Given the description of an element on the screen output the (x, y) to click on. 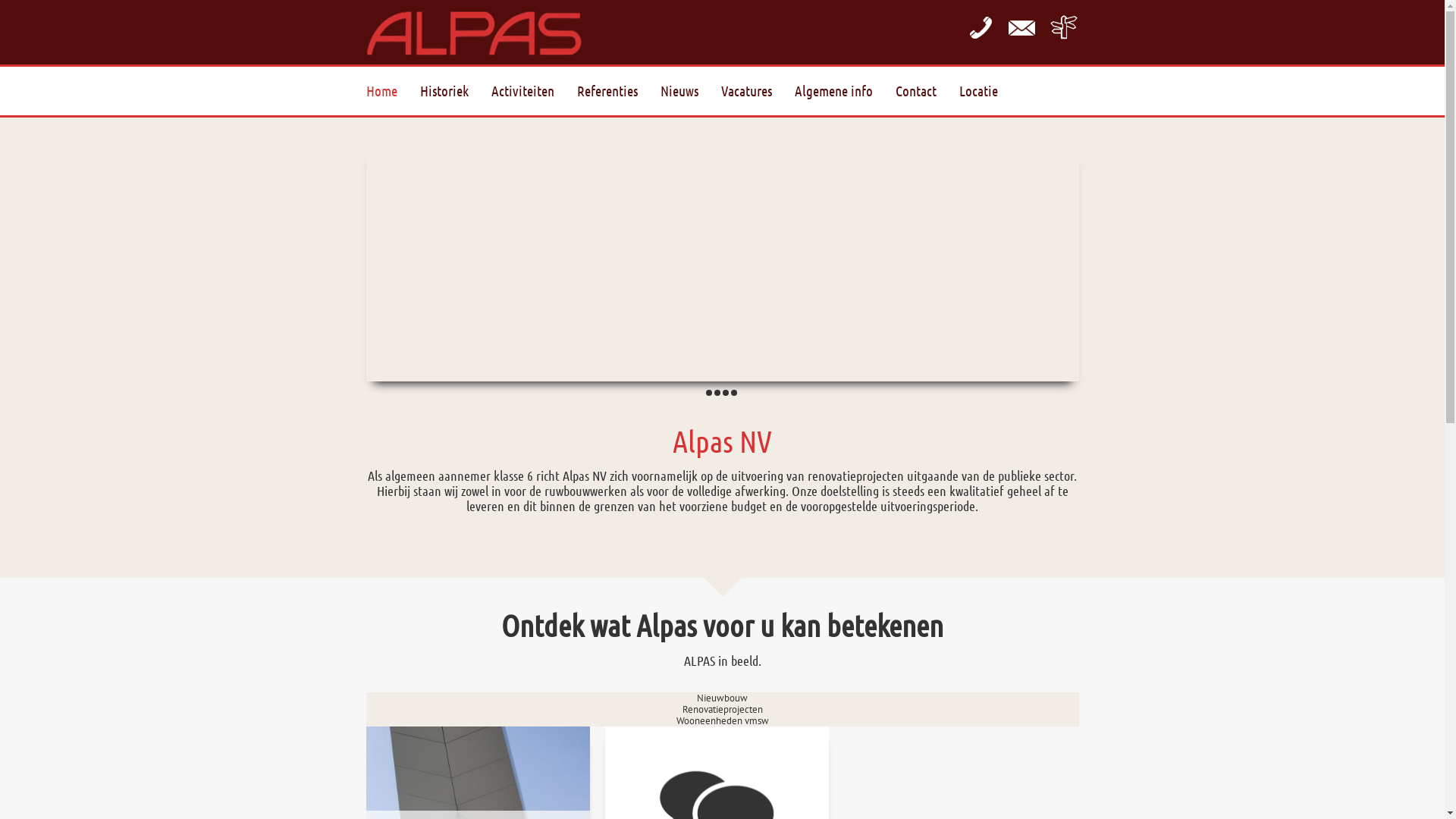
Historiek Element type: text (455, 91)
Contact Element type: text (926, 91)
Neem vrijblijvend contact op via 052 49 70 56. Element type: hover (979, 26)
Algemene info Element type: text (844, 91)
  Element type: text (708, 392)
  Element type: text (979, 26)
  Element type: text (717, 392)
  Element type: text (1022, 26)
Activiteiten Element type: text (534, 91)
  Element type: text (724, 392)
Contact Element type: hover (1022, 26)
Locatie Element type: hover (1063, 26)
Bedrijf Element type: hover (734, 392)
Wooneenheden vmsw Element type: text (722, 720)
Vacatures Element type: text (756, 91)
Logo Alpas Element type: hover (473, 32)
Nieuwbouw Element type: text (721, 697)
Renovatieprojecten Element type: text (722, 708)
Home Element type: text (392, 91)
  Element type: text (734, 392)
Referenties Element type: text (617, 91)
Renovatieprojecten Element type: hover (708, 392)
Nieuws Element type: text (689, 91)
  Element type: text (1063, 26)
Locatie Element type: text (988, 91)
